Given the description of an element on the screen output the (x, y) to click on. 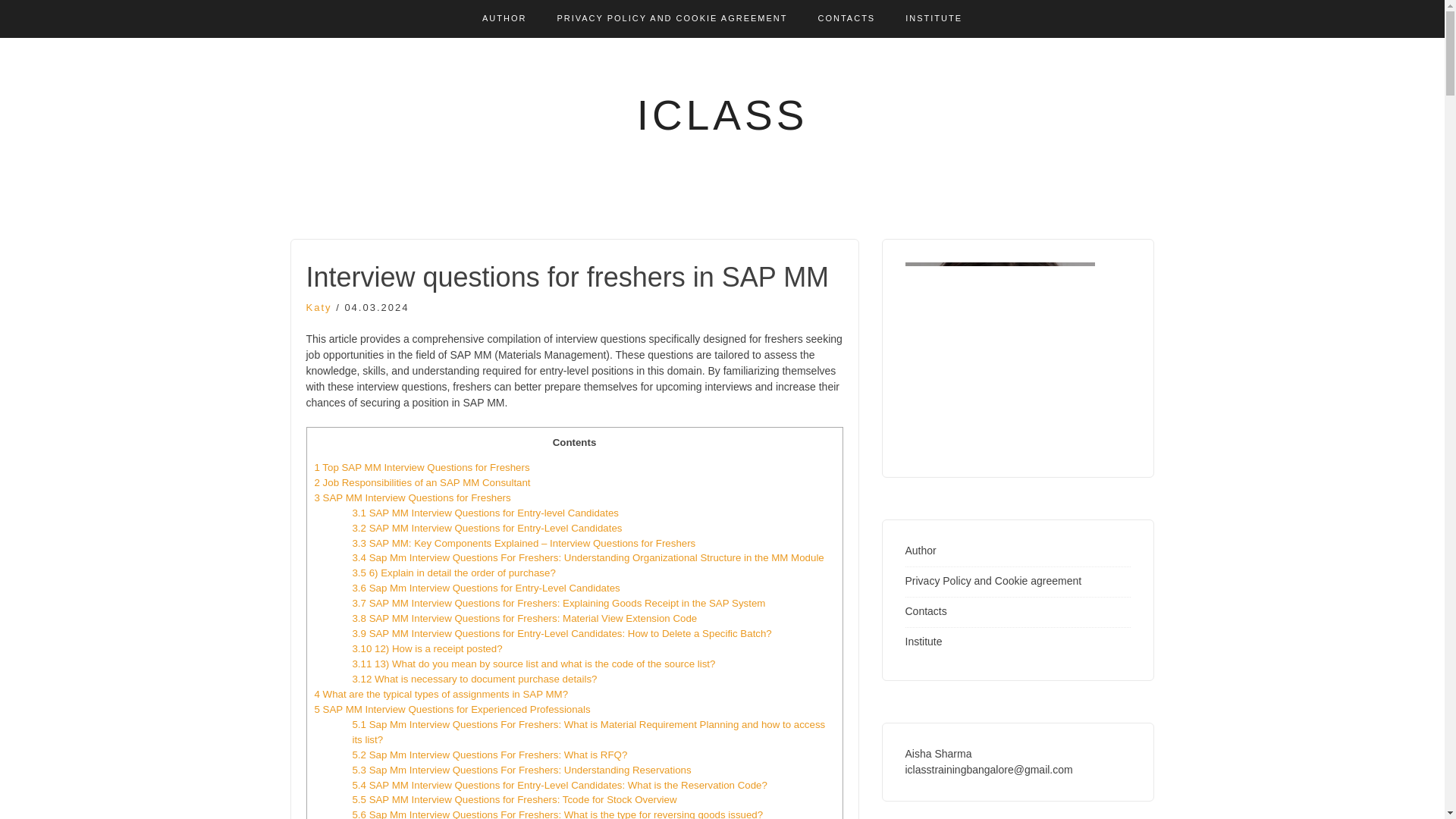
Katy (318, 307)
4 What are the typical types of assignments in SAP MM? (440, 694)
INSTITUTE (933, 18)
3.12 What is necessary to document purchase details? (474, 678)
ICLASS (722, 114)
5.2 Sap Mm Interview Questions For Freshers: What is RFQ? (489, 754)
